Given the description of an element on the screen output the (x, y) to click on. 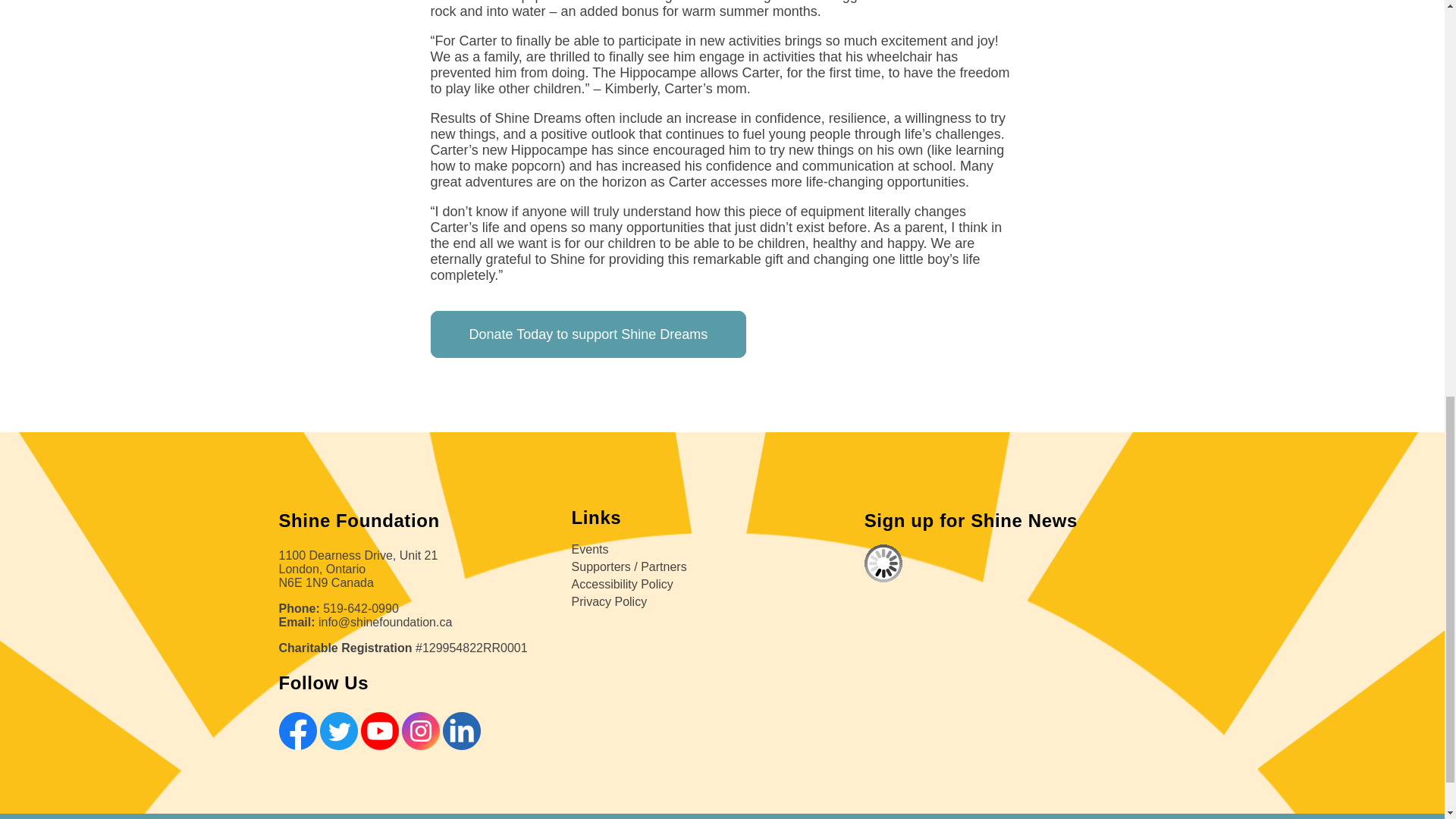
Privacy Policy (609, 601)
Accessibility Policy (622, 584)
Events (590, 549)
Donate Today to support Shine Dreams (588, 334)
